Given the description of an element on the screen output the (x, y) to click on. 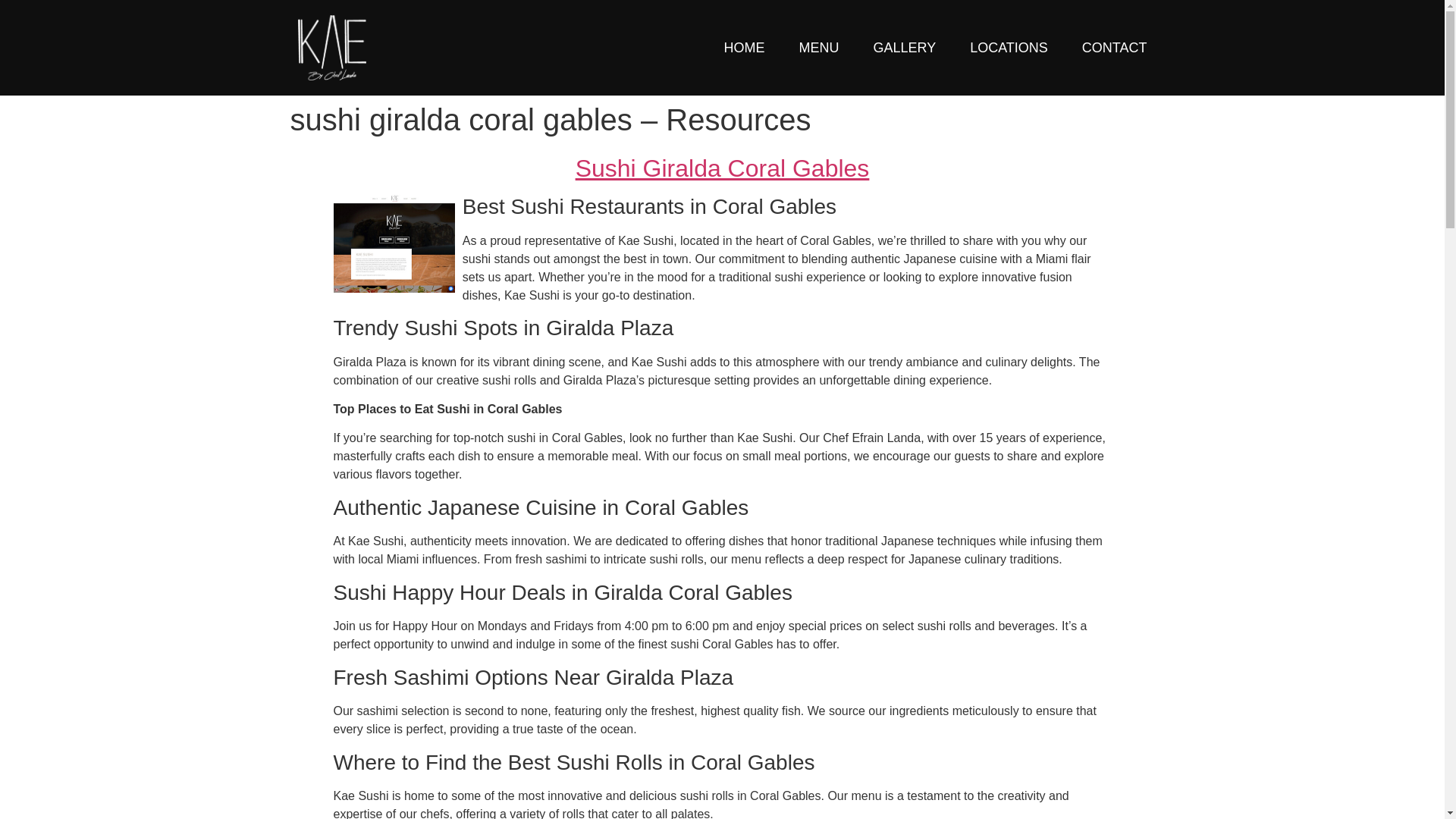
CONTACT (1114, 47)
LOCATIONS (1008, 47)
Sushi Giralda Coral Gables (722, 167)
HOME (743, 47)
MENU (817, 47)
GALLERY (904, 47)
